Given the description of an element on the screen output the (x, y) to click on. 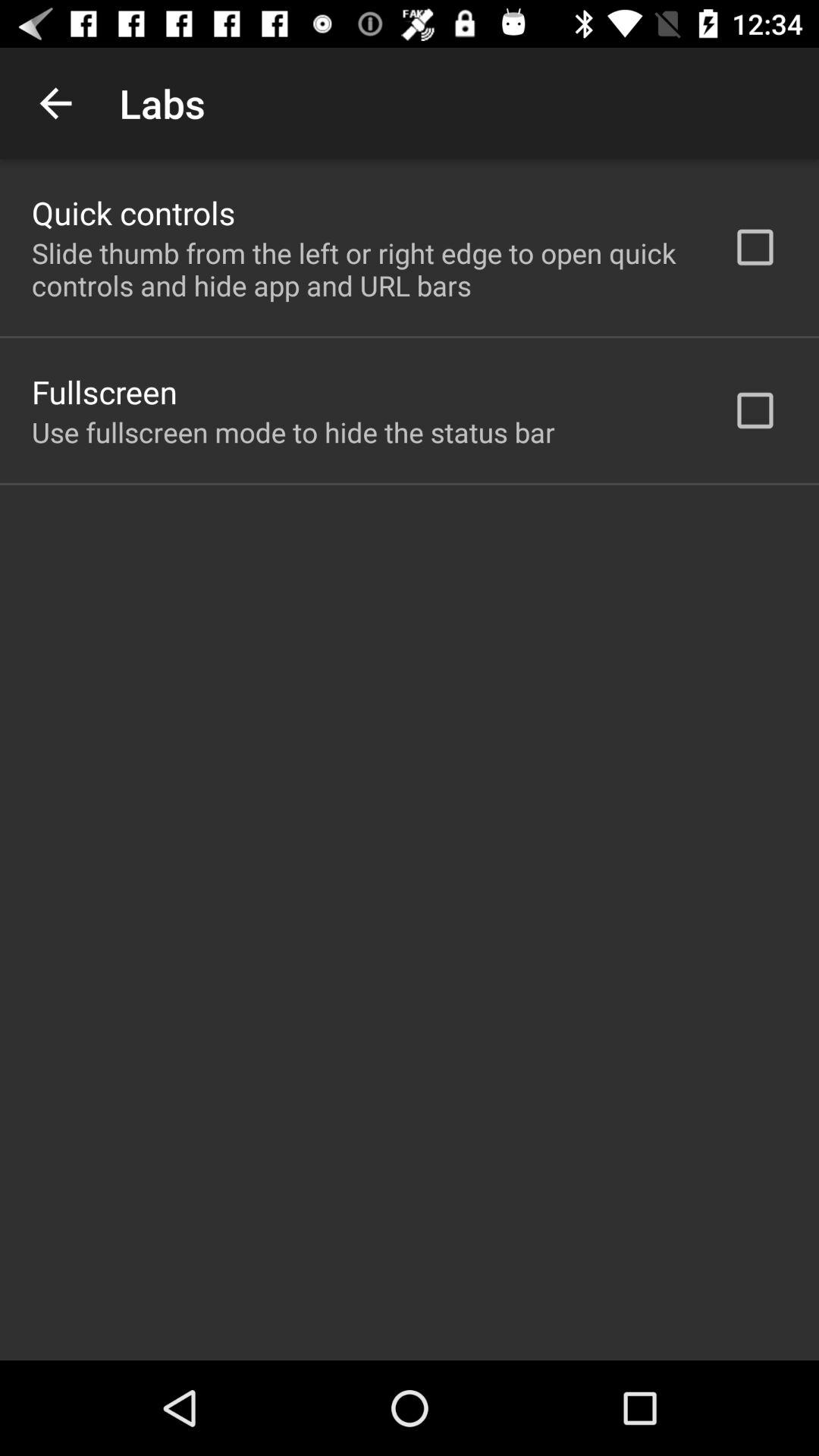
flip to use fullscreen mode item (293, 432)
